Given the description of an element on the screen output the (x, y) to click on. 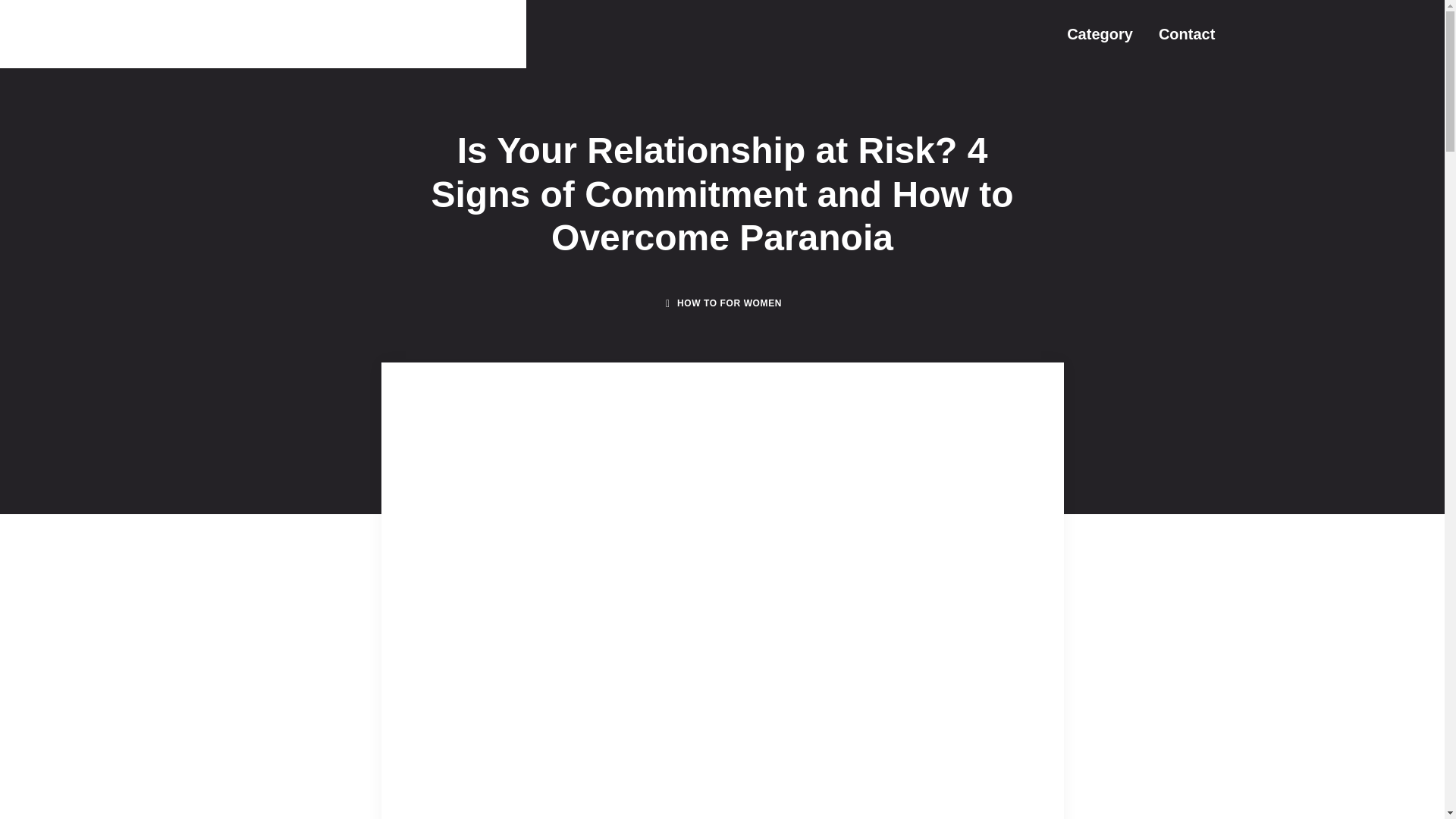
HOW TO FOR WOMEN (729, 303)
Category (1099, 33)
Contact (1186, 33)
